Given the description of an element on the screen output the (x, y) to click on. 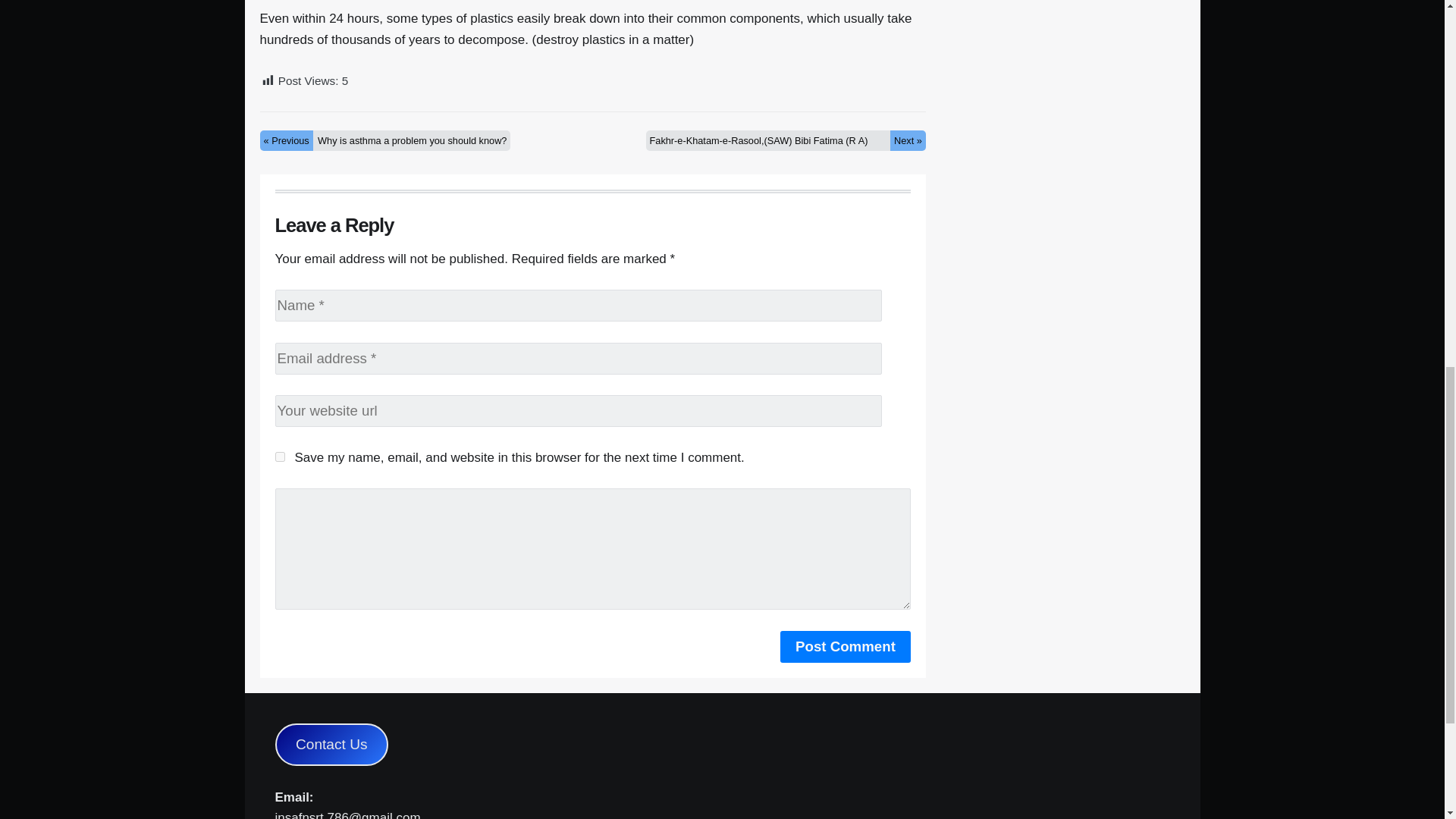
yes (279, 456)
Contact Us (331, 744)
Post Comment (845, 646)
Post Comment (845, 646)
